Given the description of an element on the screen output the (x, y) to click on. 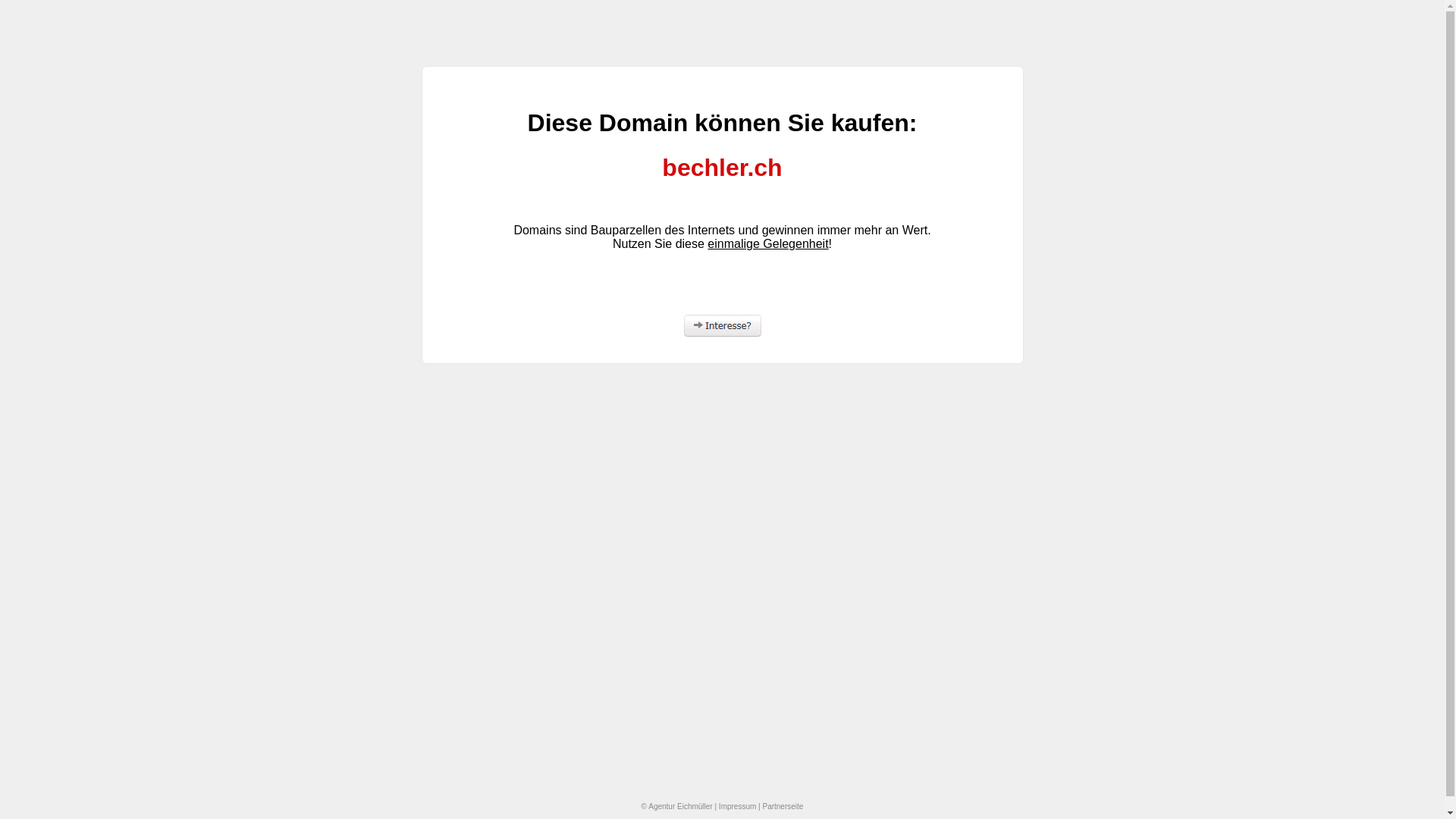
bechler.ch Element type: text (721, 167)
Partnerseite Element type: text (782, 806)
Impressum Element type: text (737, 806)
